Given the description of an element on the screen output the (x, y) to click on. 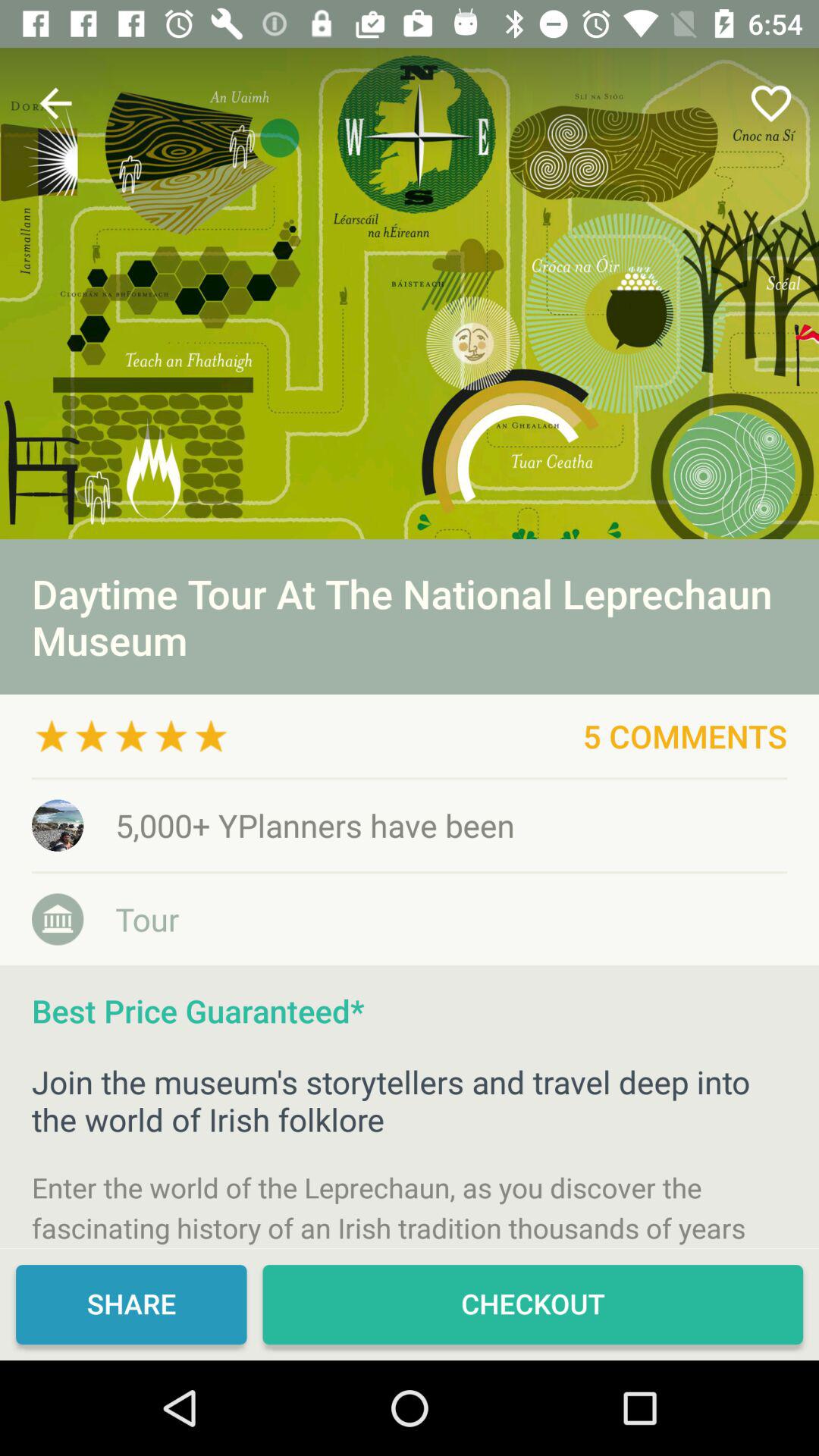
click the icon to the left of checkout item (130, 1304)
